Given the description of an element on the screen output the (x, y) to click on. 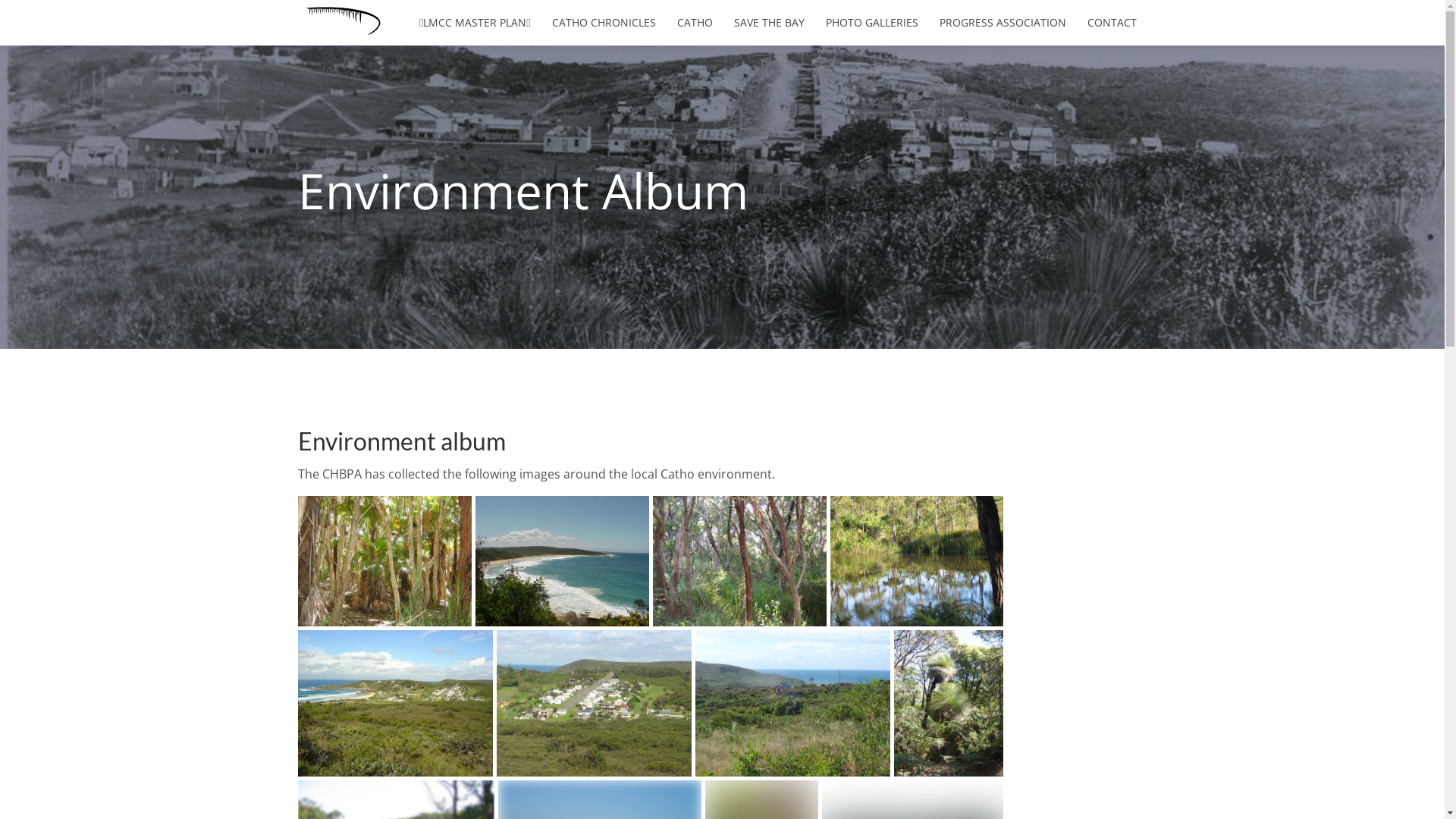
CONTACT Element type: text (1111, 22)
PROGRESS ASSOCIATION Element type: text (1002, 22)
CATHO Element type: text (693, 22)
PHOTO GALLERIES Element type: text (871, 22)
SAVE THE BAY Element type: text (769, 22)
CATHO CHRONICLES Element type: text (603, 22)
